Given the description of an element on the screen output the (x, y) to click on. 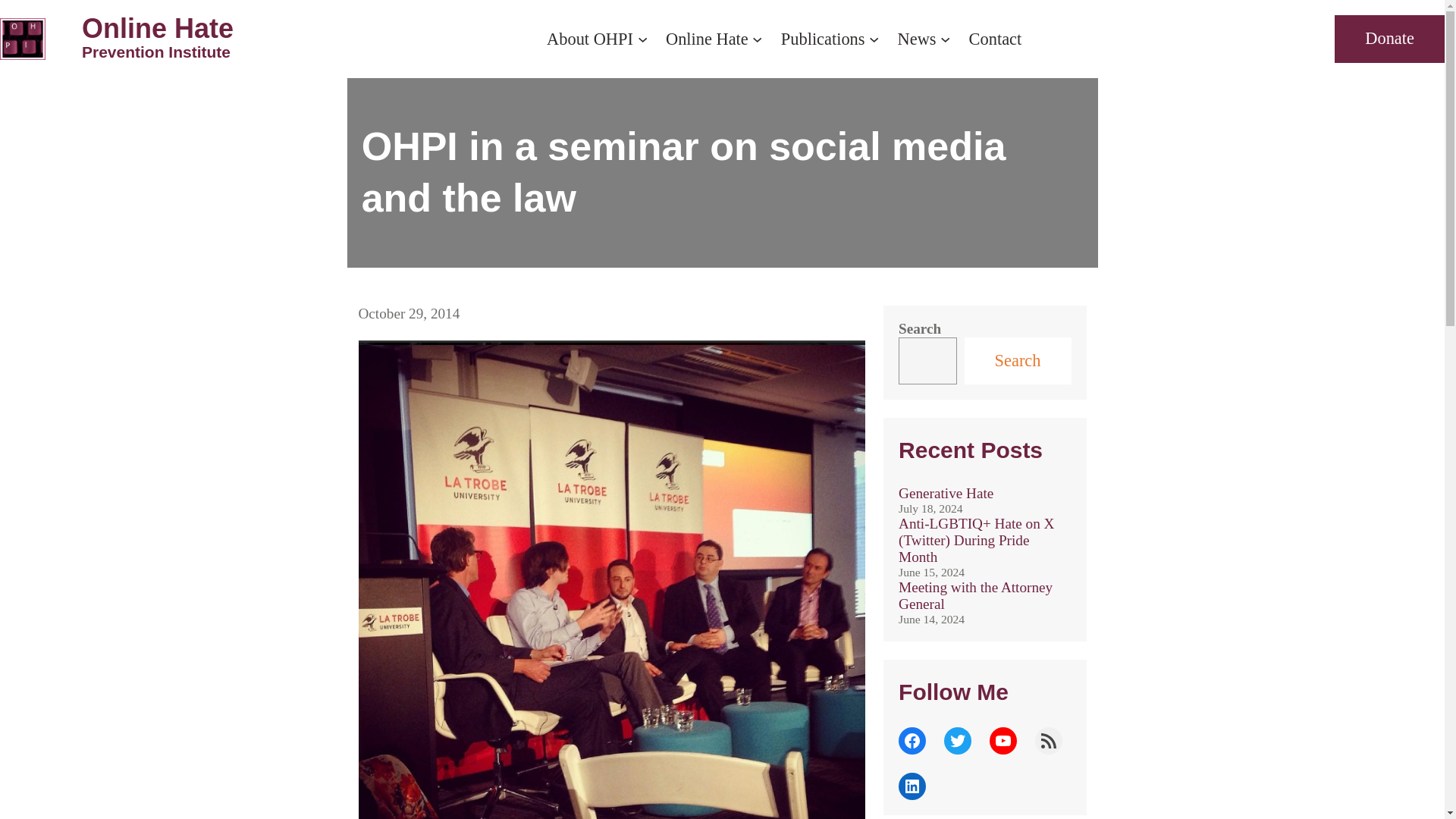
About OHPI (590, 38)
Publications (156, 43)
News (822, 38)
Online Hate (917, 38)
